Given the description of an element on the screen output the (x, y) to click on. 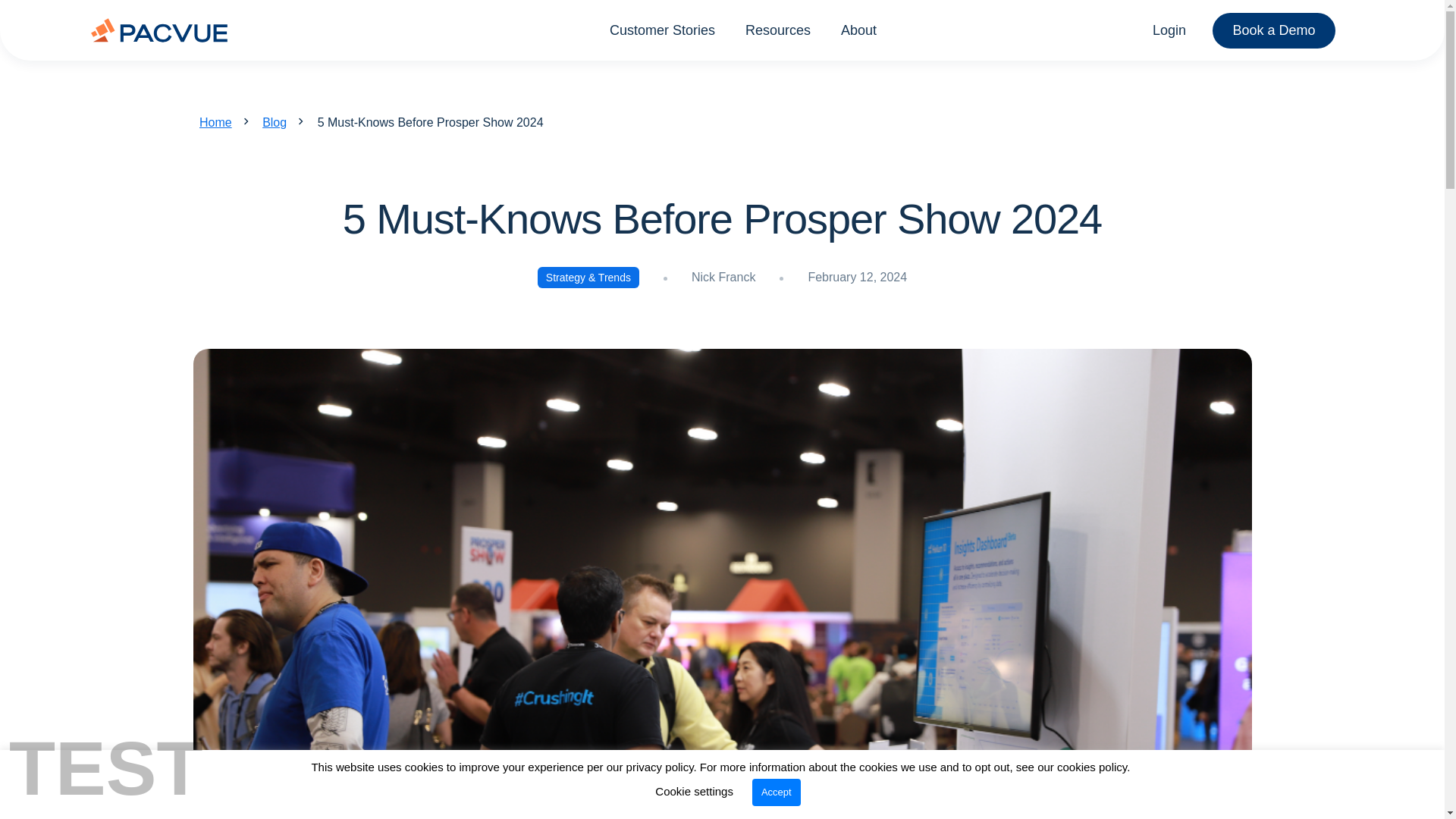
Customer Stories (662, 29)
About (858, 29)
Resources (777, 29)
privacy policy (660, 766)
Cookie settings (694, 790)
Accept (776, 791)
our cookies policy (1081, 766)
